Given the description of an element on the screen output the (x, y) to click on. 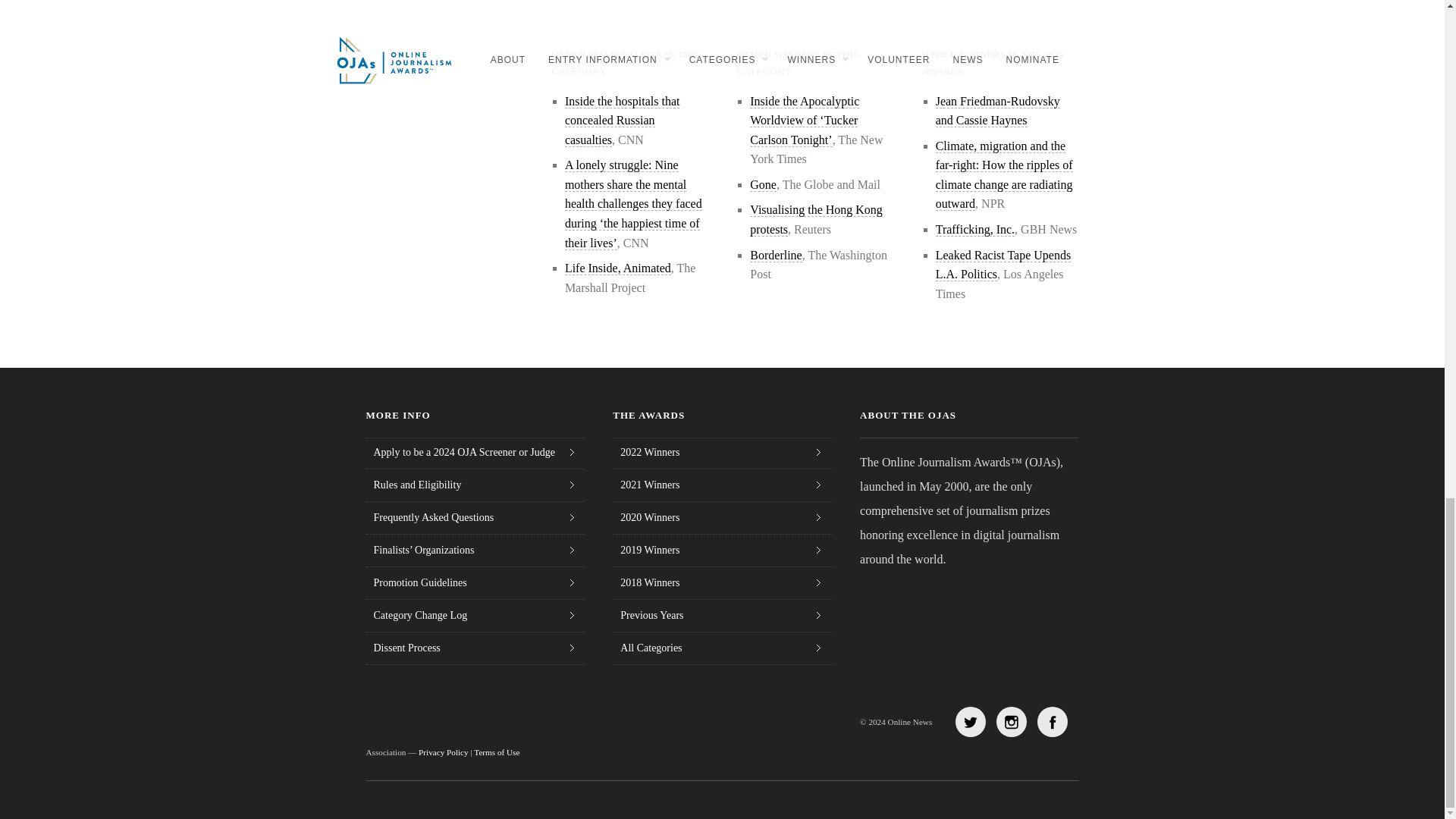
Follow ONA (970, 721)
Follow ONA (1010, 721)
Follow ONA (1051, 721)
